Given the description of an element on the screen output the (x, y) to click on. 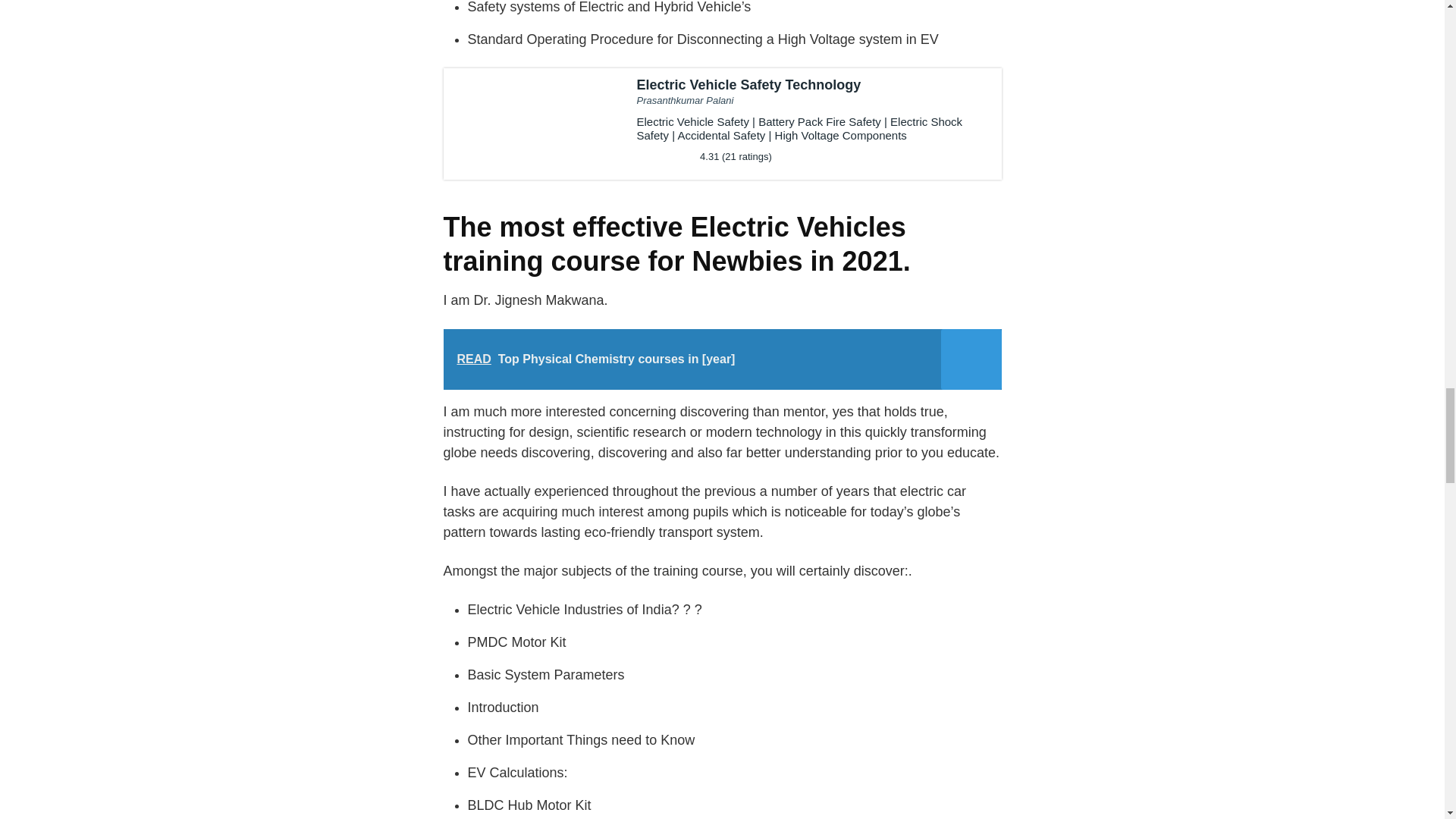
Electric Vehicle Safety Technology (721, 123)
